Given the description of an element on the screen output the (x, y) to click on. 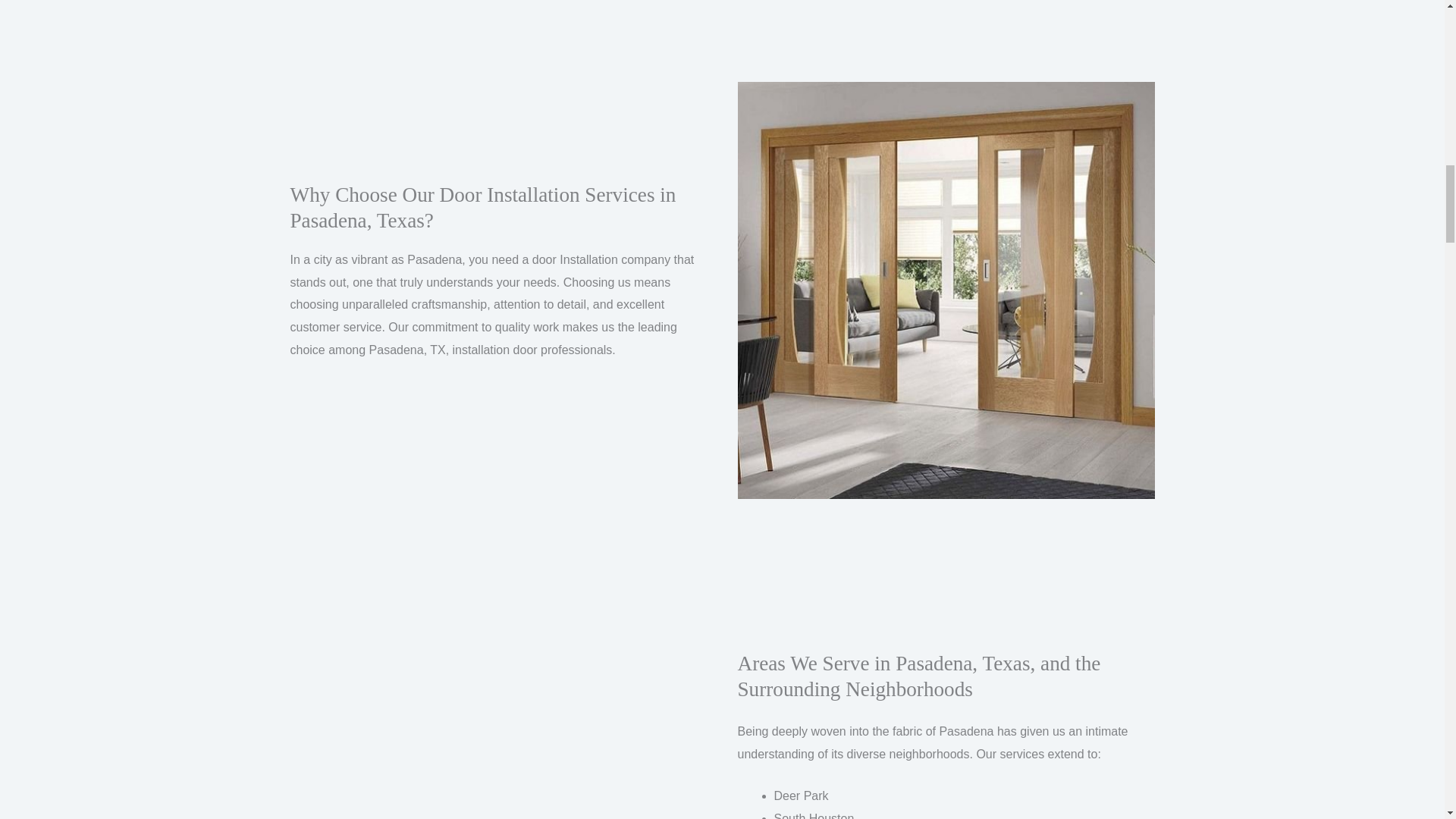
pasadena, tx (497, 762)
